Given the description of an element on the screen output the (x, y) to click on. 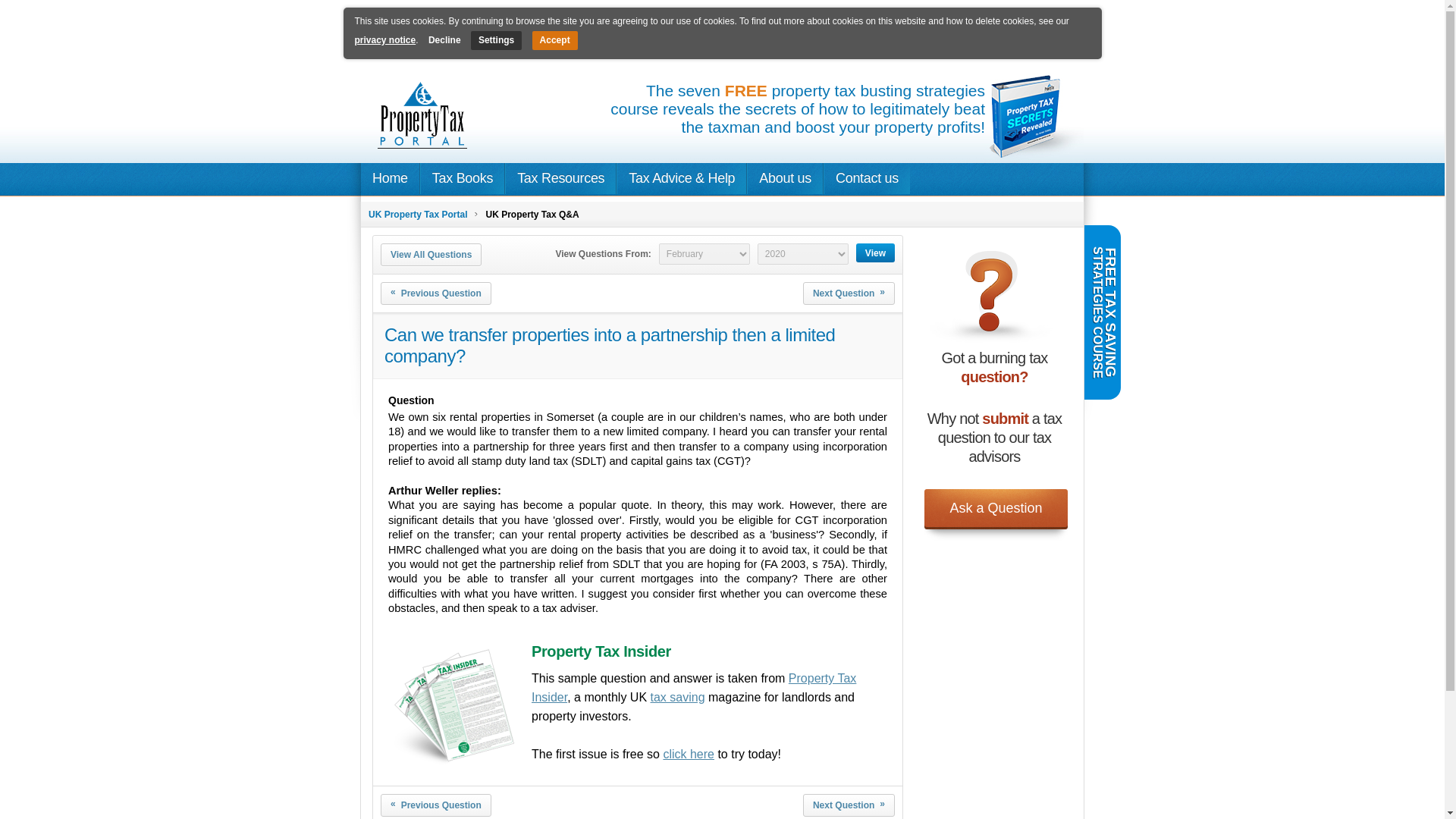
Property Tax Insider (693, 687)
Tax Resources (560, 178)
Accept (555, 40)
tax saving (677, 697)
View All Questions (430, 254)
Ask a Question (995, 514)
FREE TAX SAVING STRATEGIES COURSE (1171, 243)
privacy notice (385, 40)
Decline (448, 40)
click here (688, 753)
